Given the description of an element on the screen output the (x, y) to click on. 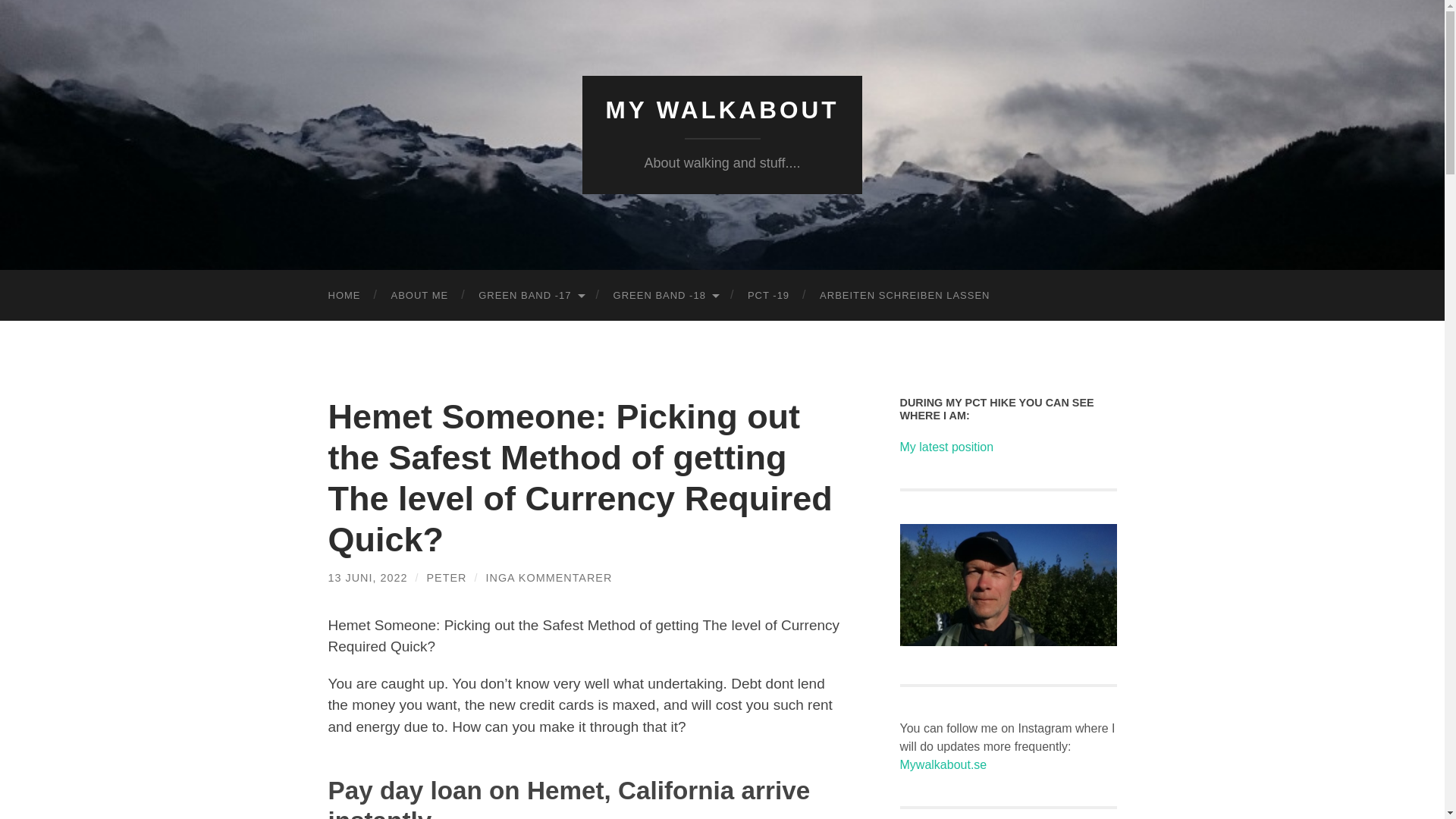
HOME (344, 295)
ARBEITEN SCHREIBEN LASSEN (904, 295)
MY WALKABOUT (721, 109)
ABOUT ME (419, 295)
GREEN BAND -17 (529, 295)
GREEN BAND -18 (665, 295)
PCT -19 (768, 295)
